Given the description of an element on the screen output the (x, y) to click on. 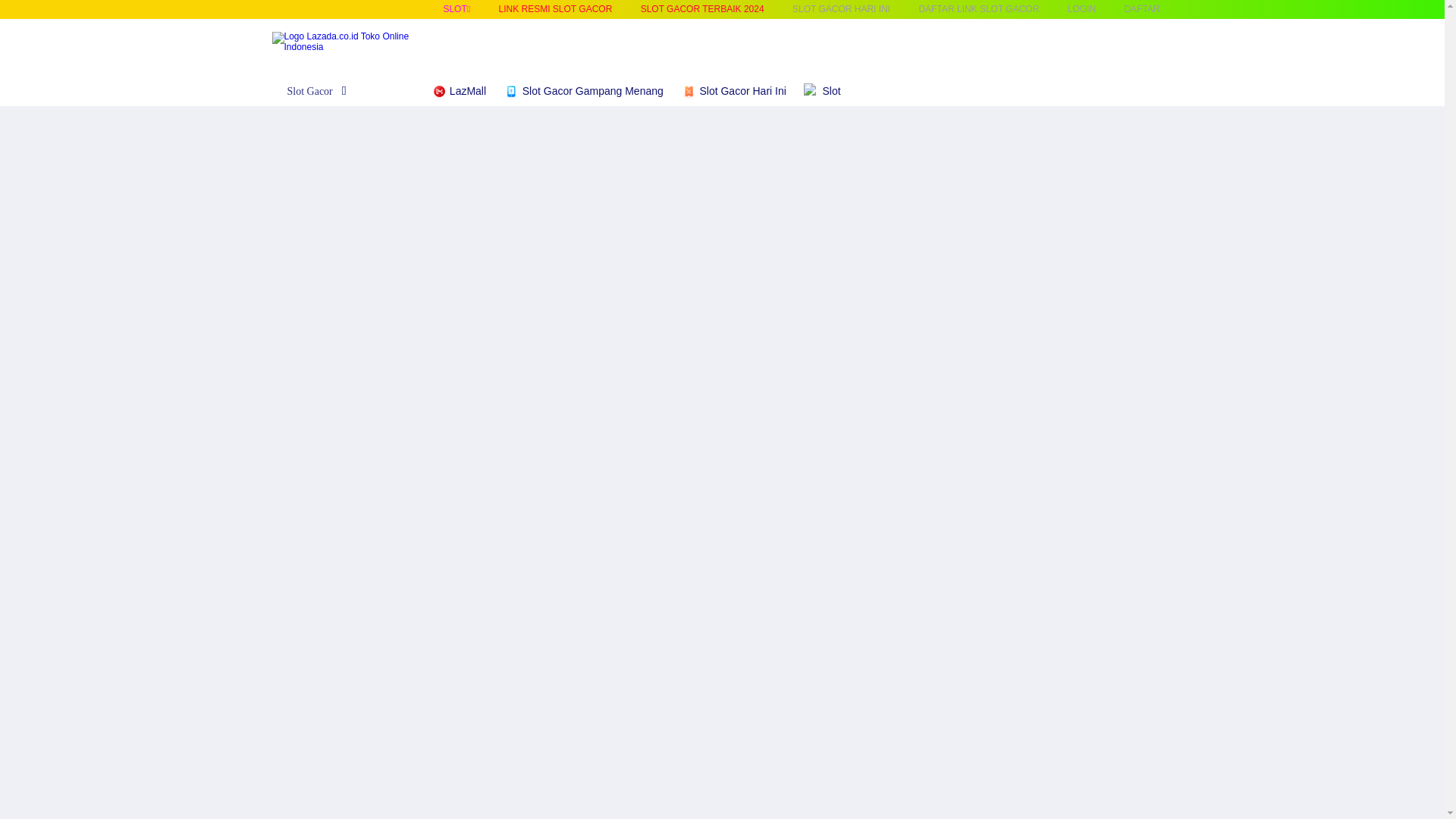
DAFTAR (1141, 9)
SLOT GACOR TERBAIK 2024 (702, 9)
LOGIN (1081, 9)
